Given the description of an element on the screen output the (x, y) to click on. 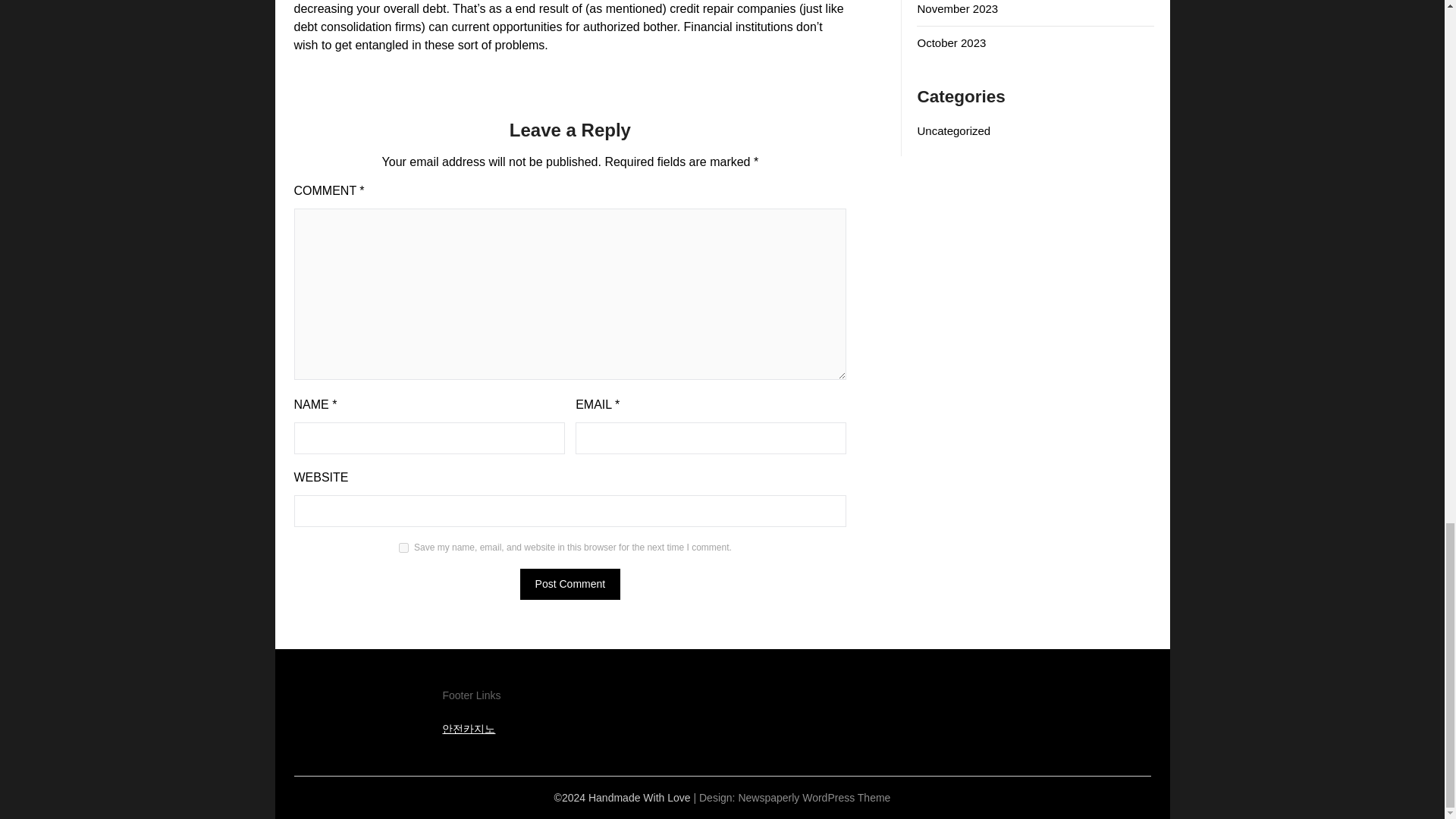
October 2023 (951, 42)
November 2023 (957, 8)
Post Comment (570, 583)
Post Comment (570, 583)
Newspaperly WordPress Theme (813, 797)
yes (403, 547)
Uncategorized (953, 130)
